Given the description of an element on the screen output the (x, y) to click on. 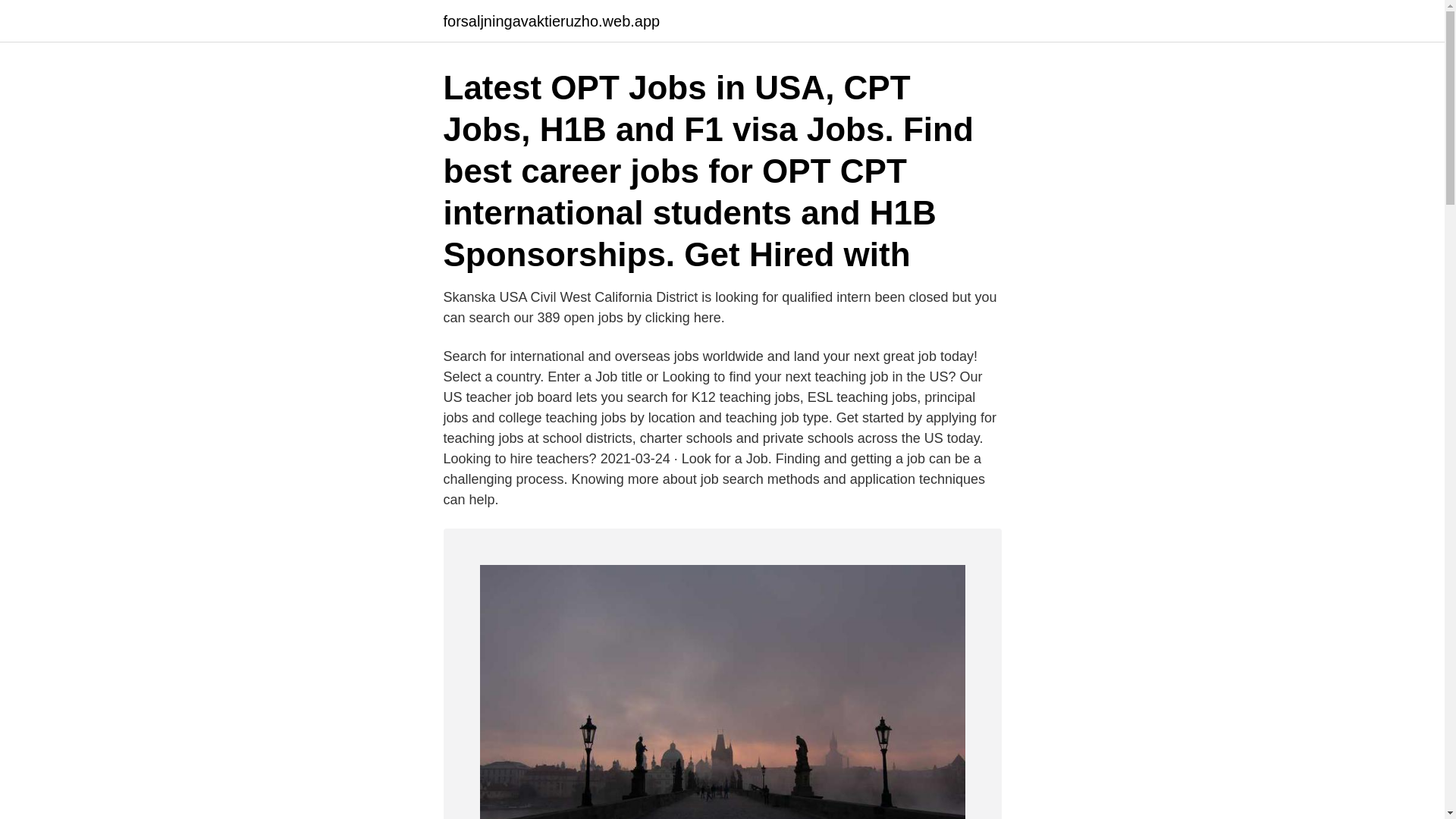
forsaljningavaktieruzho.web.app (550, 20)
